Given the description of an element on the screen output the (x, y) to click on. 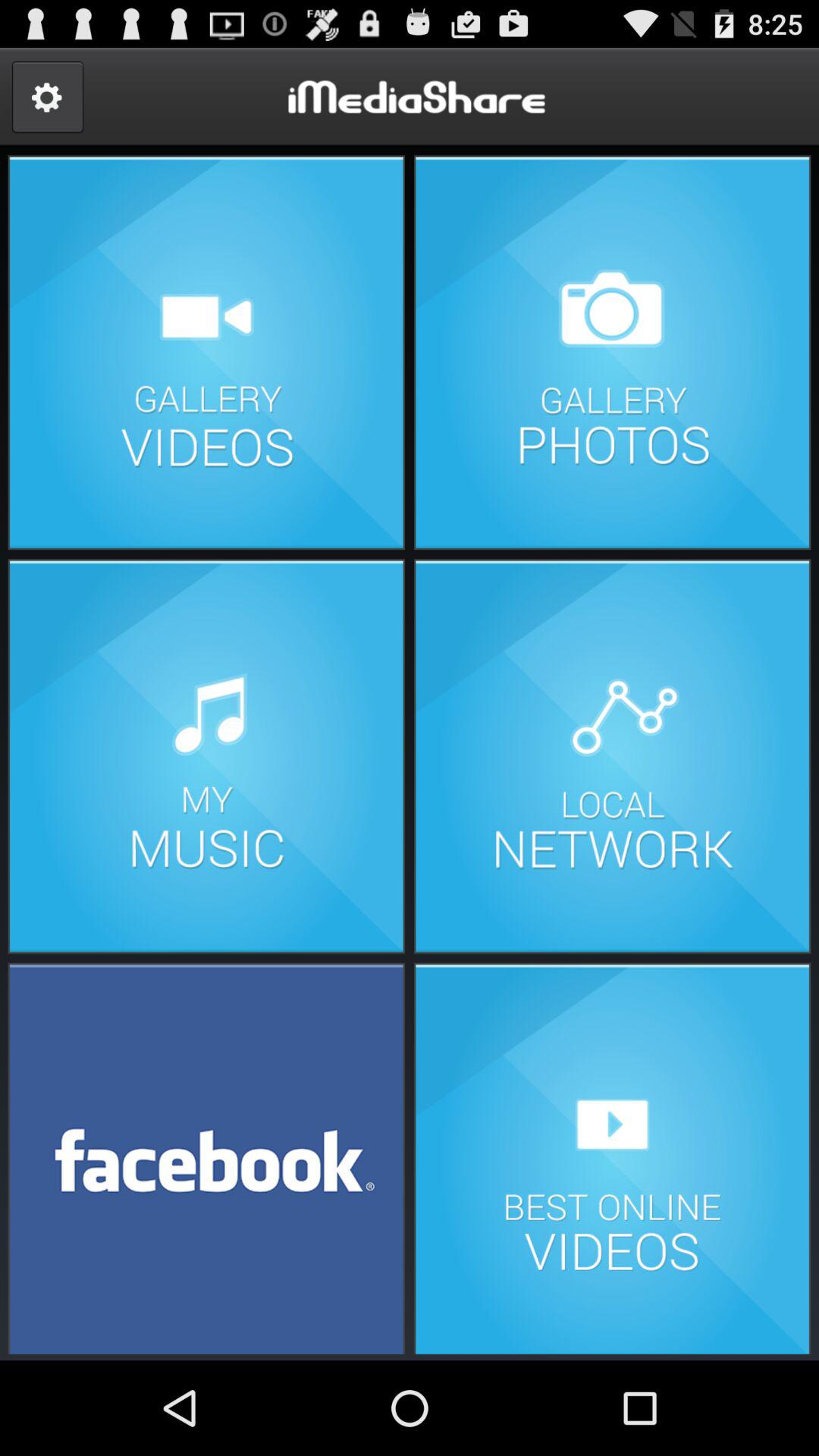
see best videos (612, 1157)
